Given the description of an element on the screen output the (x, y) to click on. 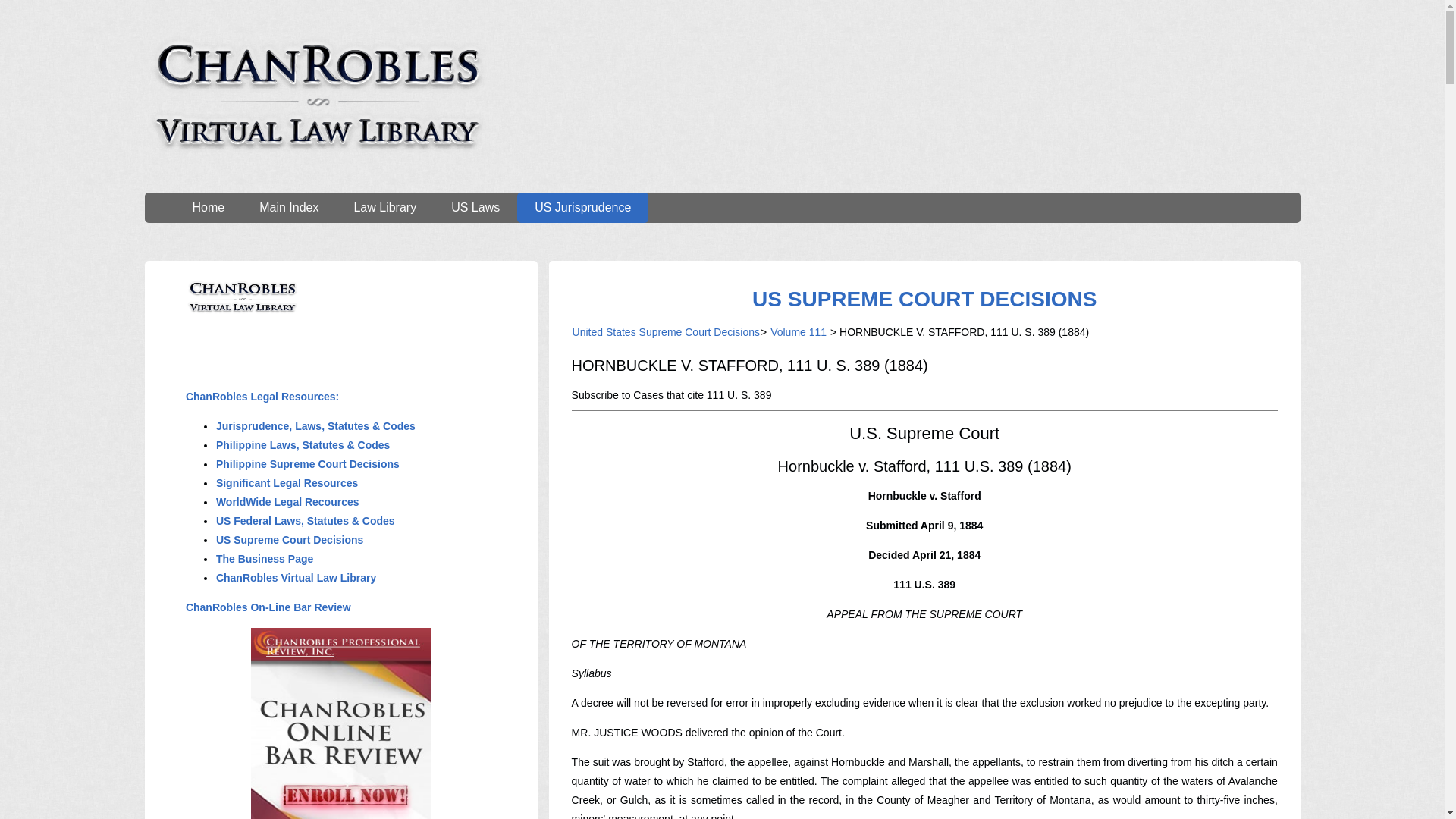
US Supreme Court Decisions (290, 539)
ChanRobles Virtual Law Library (296, 577)
US SUPREME COURT DECISIONS (924, 299)
Home (207, 207)
US Laws (474, 207)
United States Supreme Court Decisions (666, 331)
Significant Legal Resources (287, 482)
The Business Page (264, 558)
Philippine Supreme Court Decisions (307, 463)
Volume 111 (798, 331)
